Given the description of an element on the screen output the (x, y) to click on. 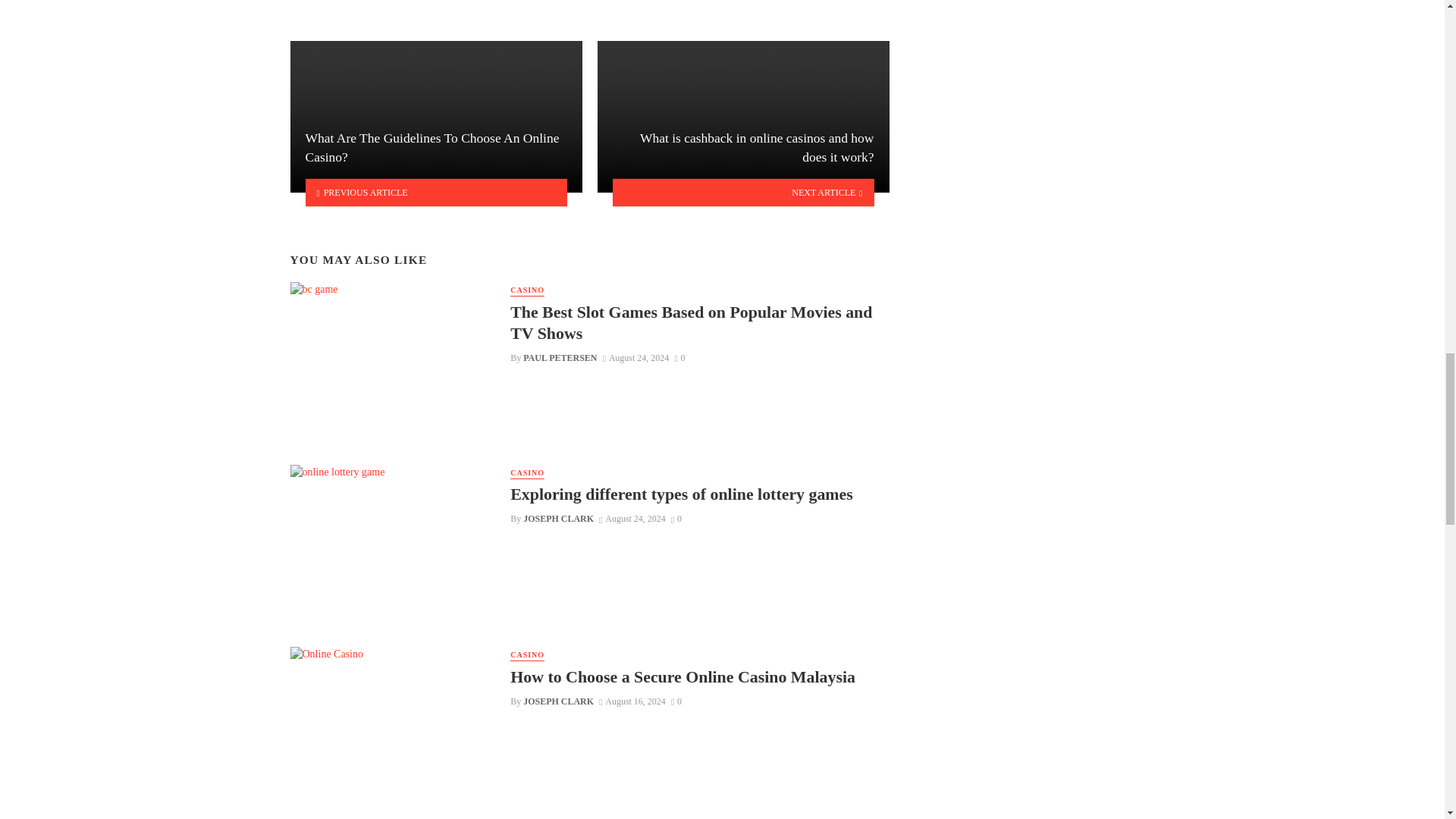
Exploring different types of online lottery games (682, 494)
The Best Slot Games Based on Popular Movies and TV Shows (699, 323)
PAUL PETERSEN (559, 357)
JOSEPH CLARK (558, 518)
CASINO (527, 290)
CASINO (527, 473)
0 (676, 518)
NEXT ARTICLE (742, 192)
PREVIOUS ARTICLE (434, 192)
0 (679, 357)
